Given the description of an element on the screen output the (x, y) to click on. 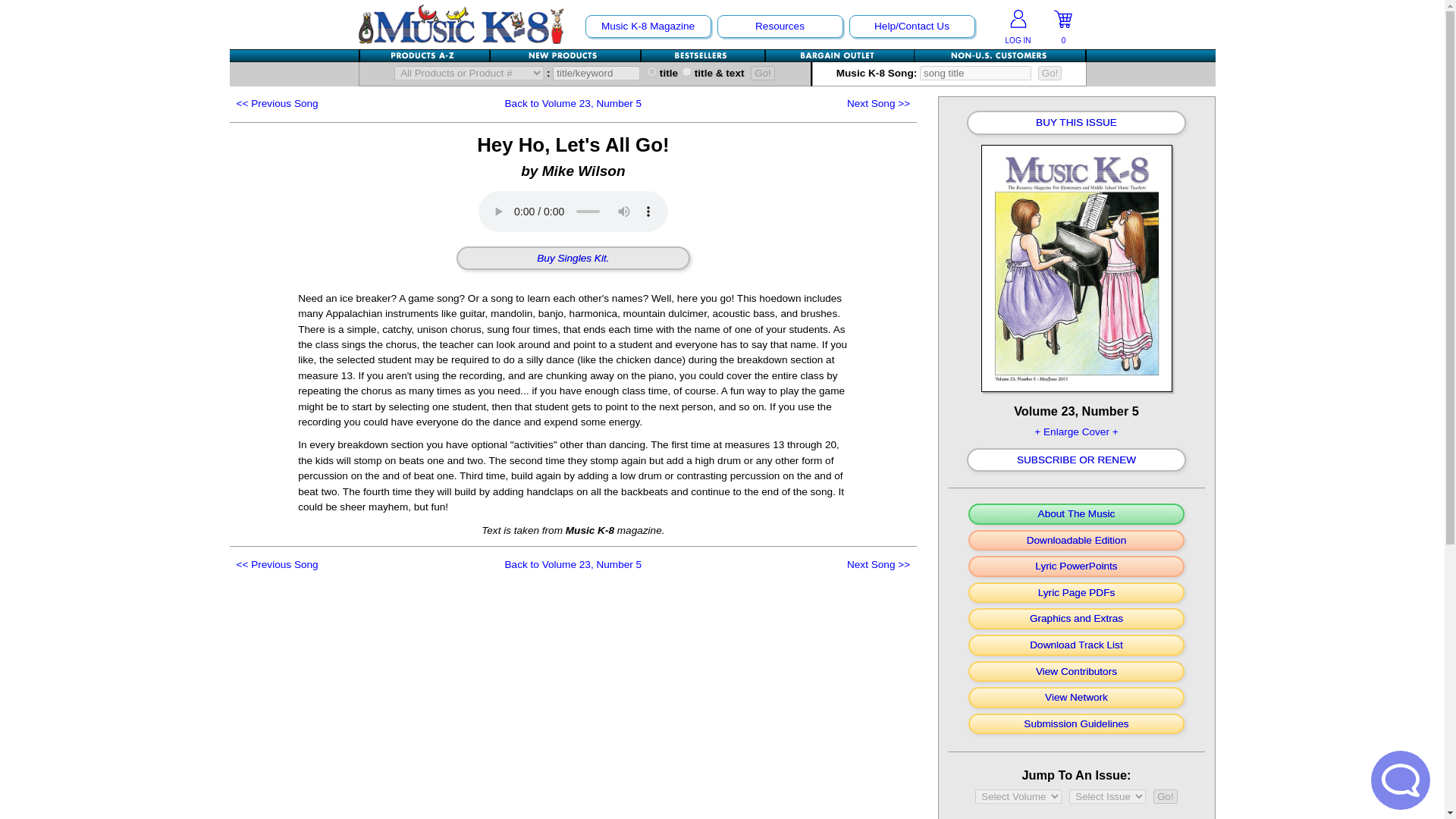
title (651, 71)
Go! (1164, 796)
Bargain Outlet (839, 55)
Bestsellers (703, 55)
Alphabetical Listing (424, 55)
both (686, 71)
MusicK8.com Worldwide (999, 55)
Go! (1049, 73)
Music K-8 Magazine (647, 26)
New Products (564, 55)
